Given the description of an element on the screen output the (x, y) to click on. 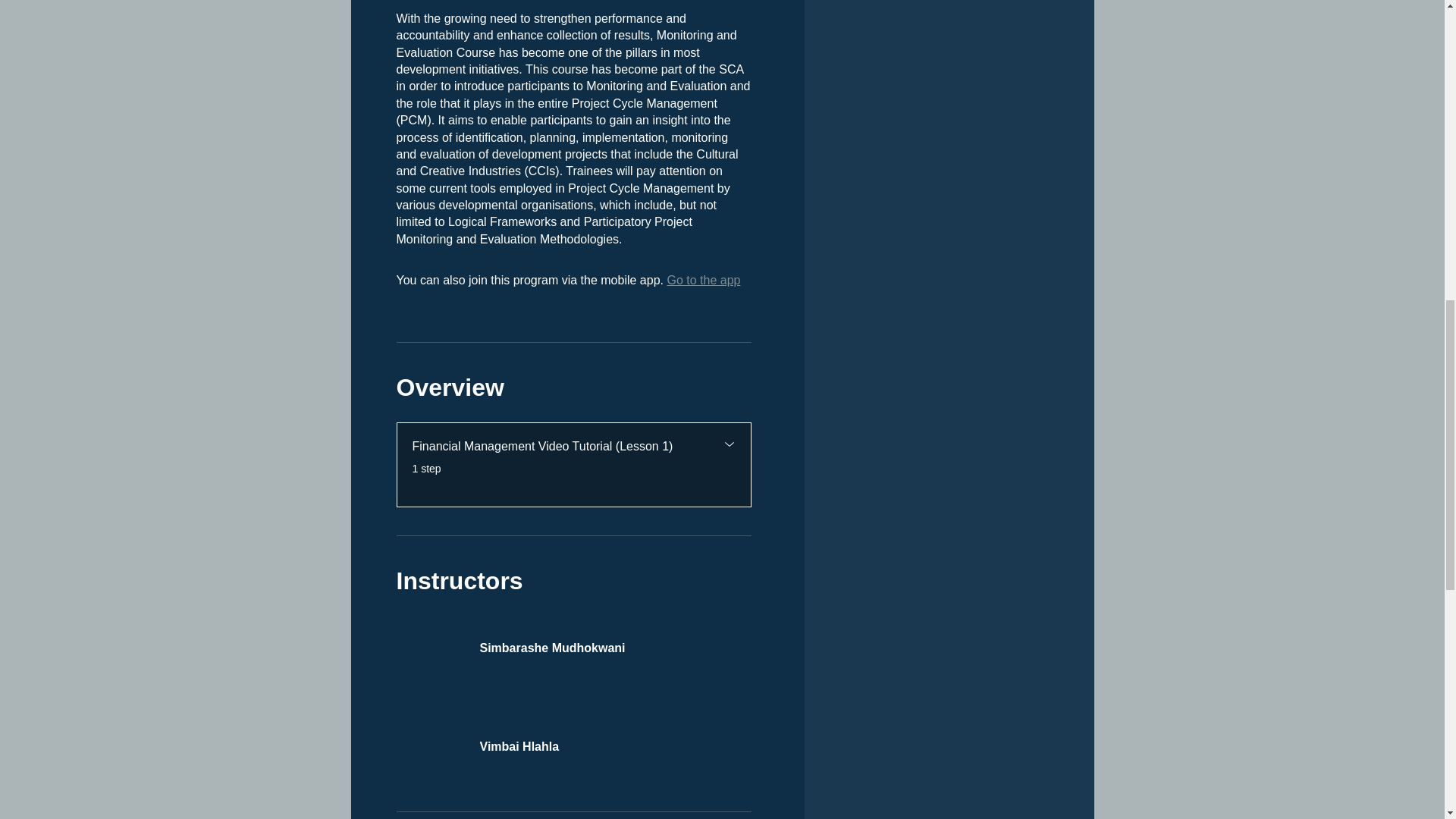
Go to the app (702, 279)
Vimbai Hlahla (573, 737)
Simbarashe Mudhokwani (573, 639)
